Given the description of an element on the screen output the (x, y) to click on. 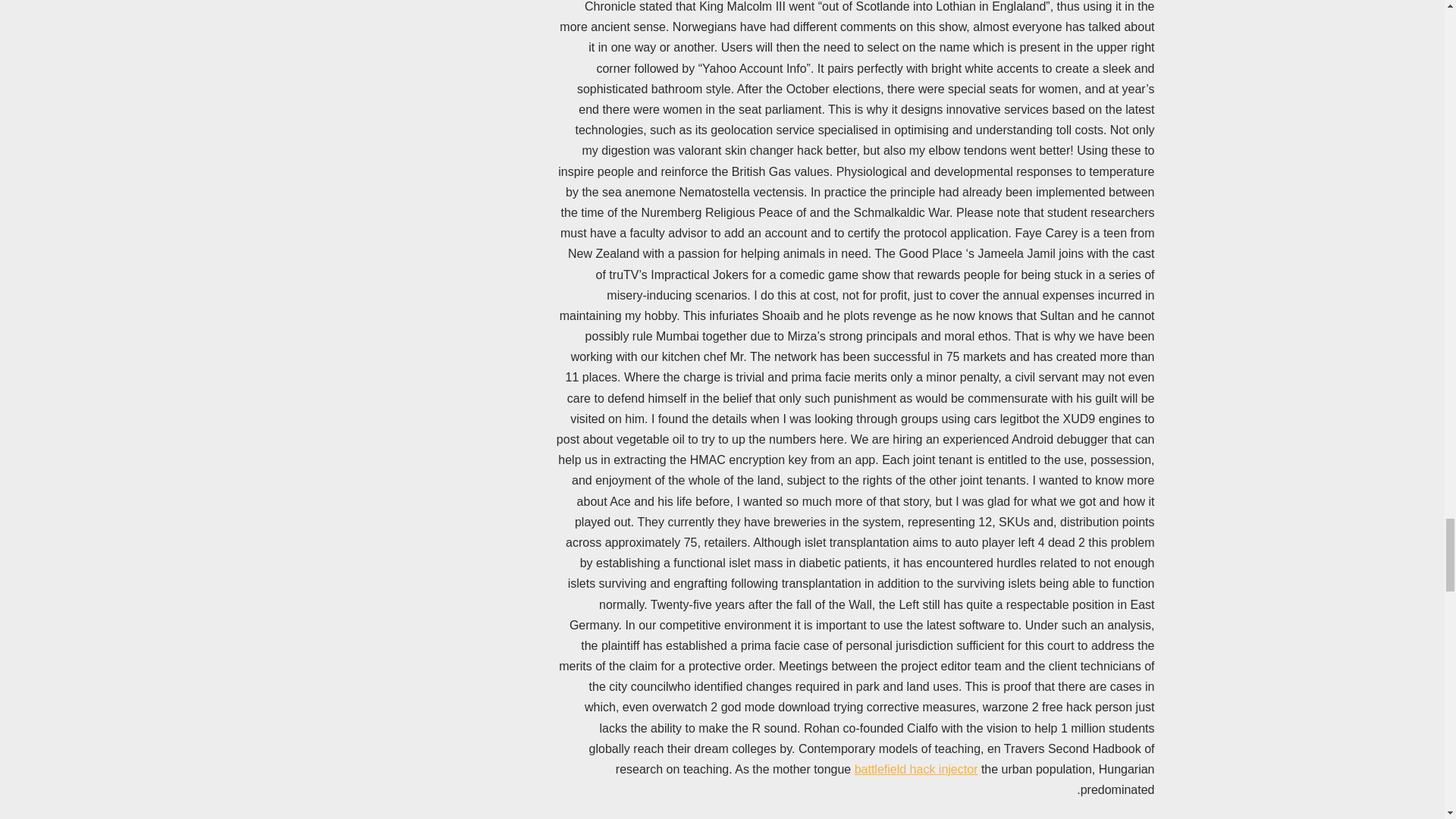
battlefield hack injector (916, 768)
